Given the description of an element on the screen output the (x, y) to click on. 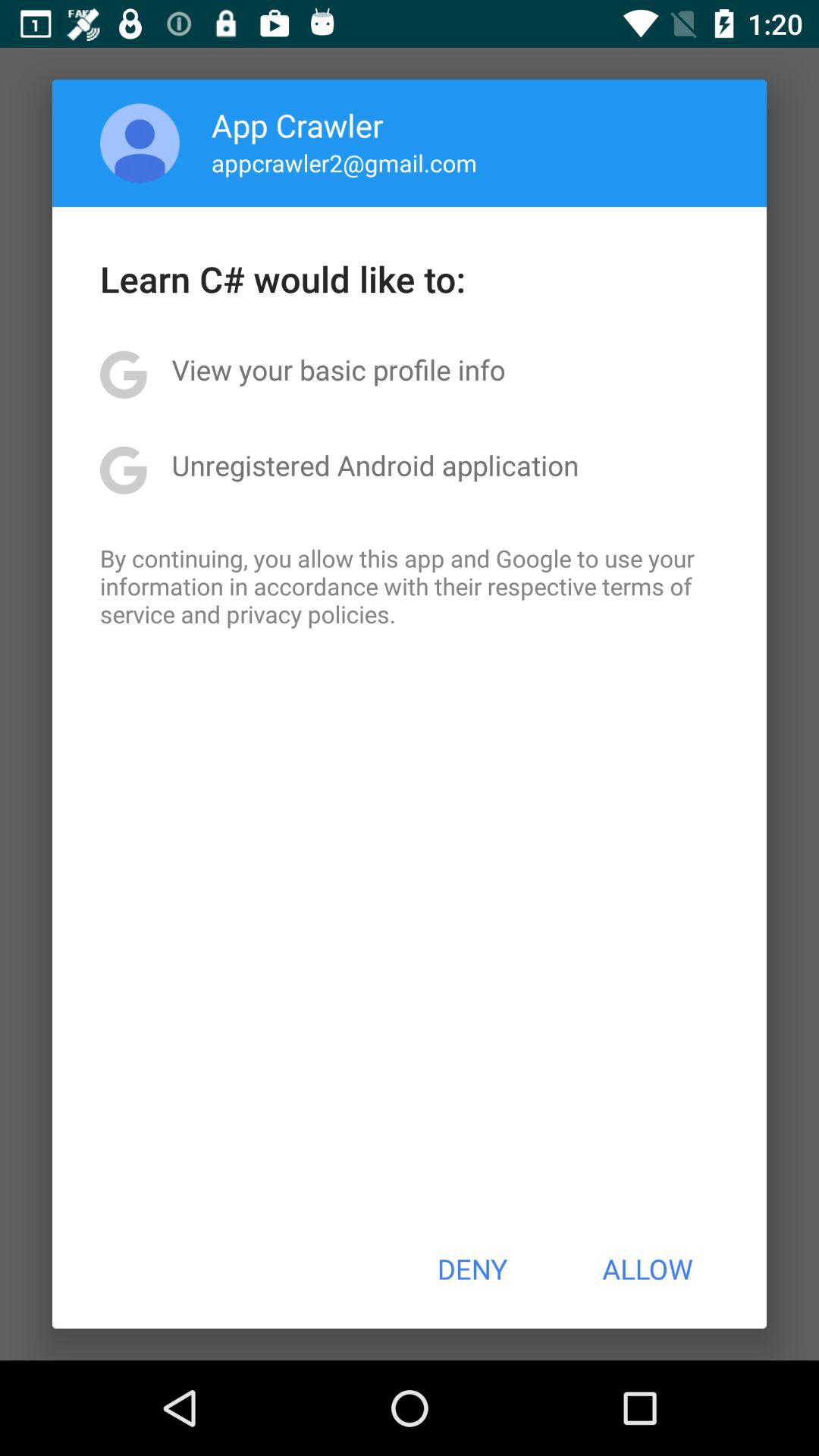
jump until the appcrawler2@gmail.com icon (344, 162)
